Given the description of an element on the screen output the (x, y) to click on. 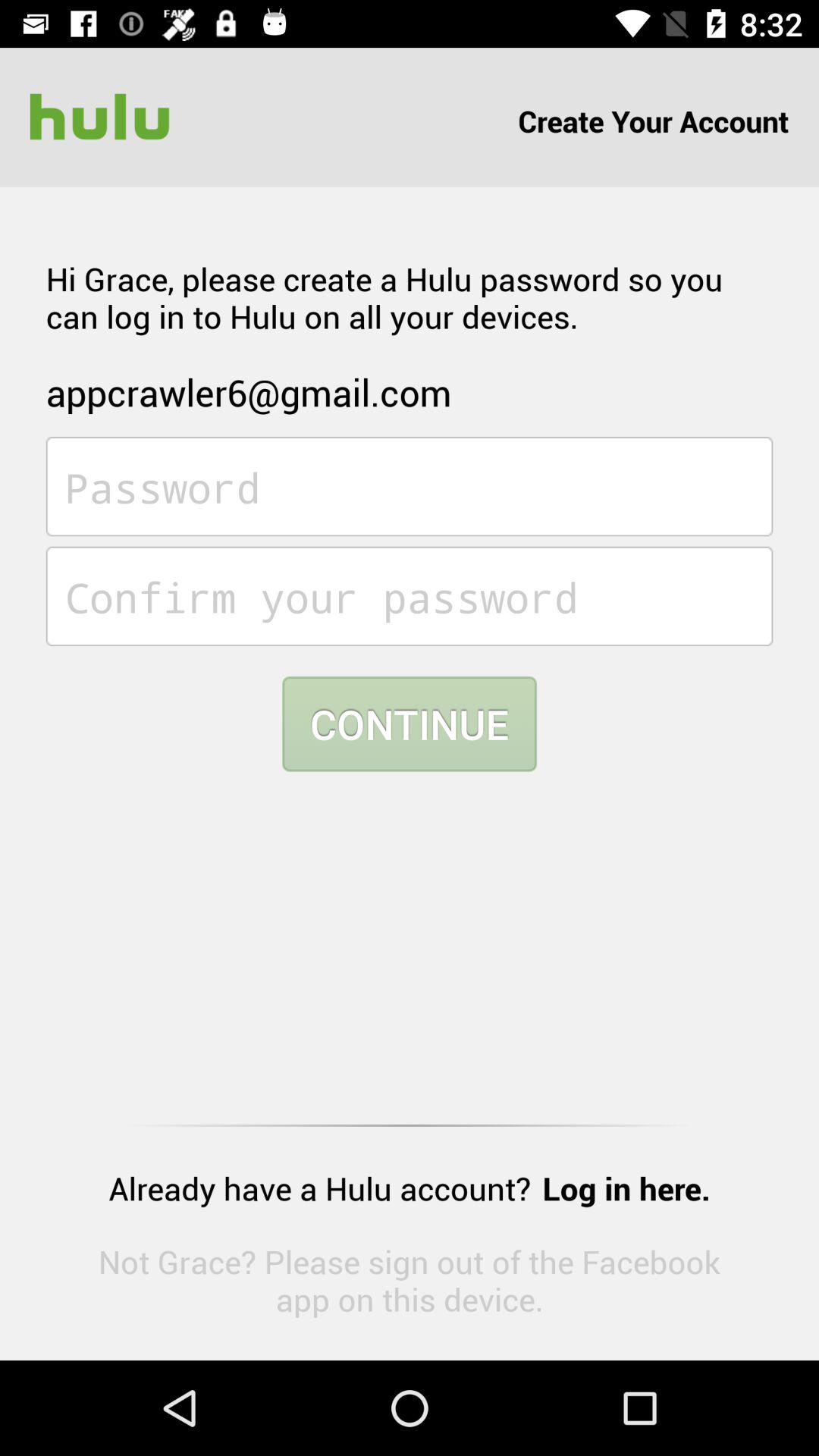
password (409, 486)
